Given the description of an element on the screen output the (x, y) to click on. 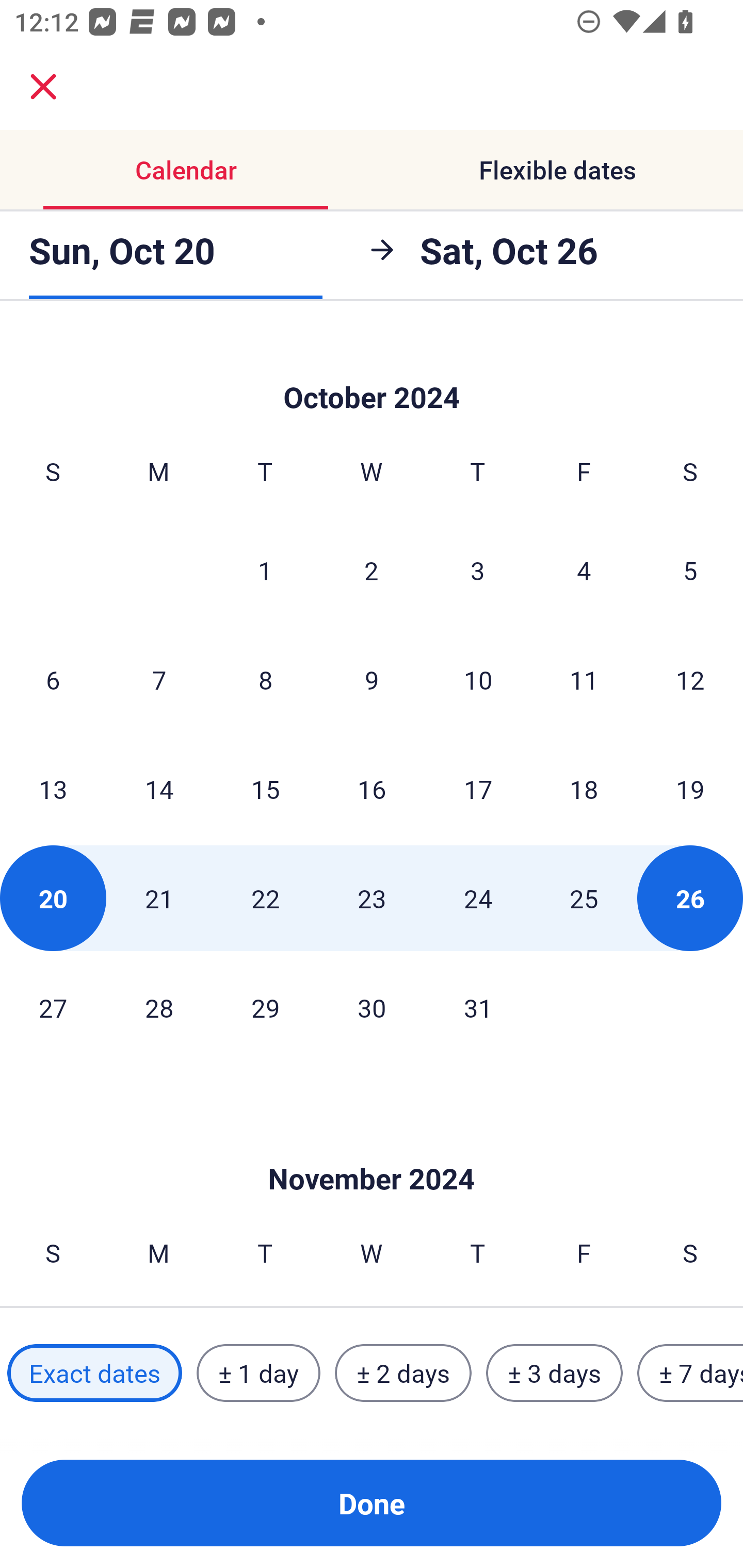
close. (43, 86)
Flexible dates (557, 170)
Skip to Done (371, 370)
1 Tuesday, October 1, 2024 (264, 569)
2 Wednesday, October 2, 2024 (371, 569)
3 Thursday, October 3, 2024 (477, 569)
4 Friday, October 4, 2024 (584, 569)
5 Saturday, October 5, 2024 (690, 569)
6 Sunday, October 6, 2024 (53, 679)
7 Monday, October 7, 2024 (159, 679)
8 Tuesday, October 8, 2024 (265, 679)
9 Wednesday, October 9, 2024 (371, 679)
10 Thursday, October 10, 2024 (477, 679)
11 Friday, October 11, 2024 (584, 679)
12 Saturday, October 12, 2024 (690, 679)
13 Sunday, October 13, 2024 (53, 788)
14 Monday, October 14, 2024 (159, 788)
15 Tuesday, October 15, 2024 (265, 788)
16 Wednesday, October 16, 2024 (371, 788)
17 Thursday, October 17, 2024 (477, 788)
18 Friday, October 18, 2024 (584, 788)
19 Saturday, October 19, 2024 (690, 788)
27 Sunday, October 27, 2024 (53, 1006)
28 Monday, October 28, 2024 (159, 1006)
29 Tuesday, October 29, 2024 (265, 1006)
30 Wednesday, October 30, 2024 (371, 1006)
31 Thursday, October 31, 2024 (477, 1006)
Skip to Done (371, 1148)
Exact dates (94, 1372)
± 1 day (258, 1372)
± 2 days (403, 1372)
± 3 days (553, 1372)
± 7 days (690, 1372)
Done (371, 1502)
